Given the description of an element on the screen output the (x, y) to click on. 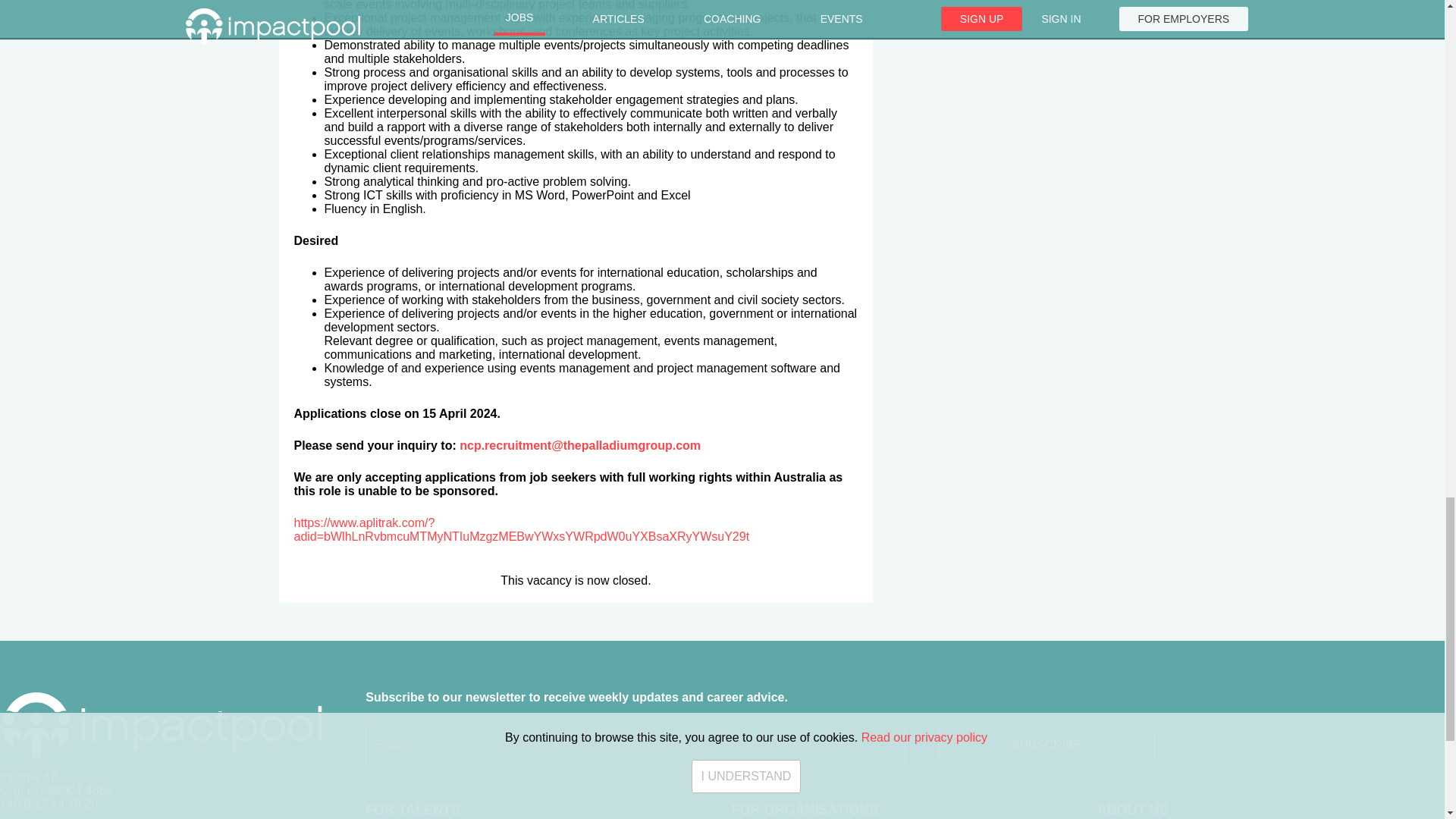
Subscribe (1046, 745)
Subscribe (1046, 745)
